Given the description of an element on the screen output the (x, y) to click on. 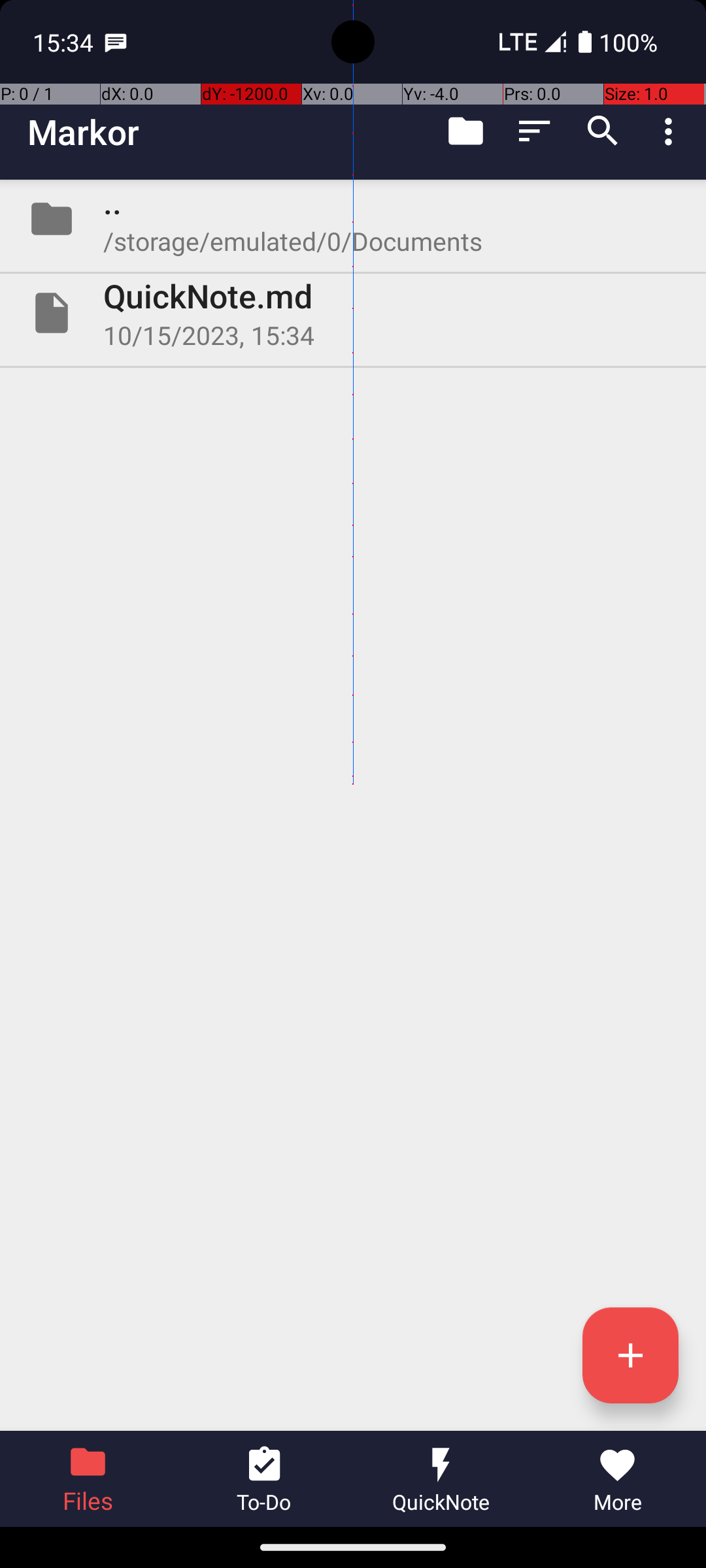
File QuickNote.md  Element type: android.widget.LinearLayout (353, 312)
